Given the description of an element on the screen output the (x, y) to click on. 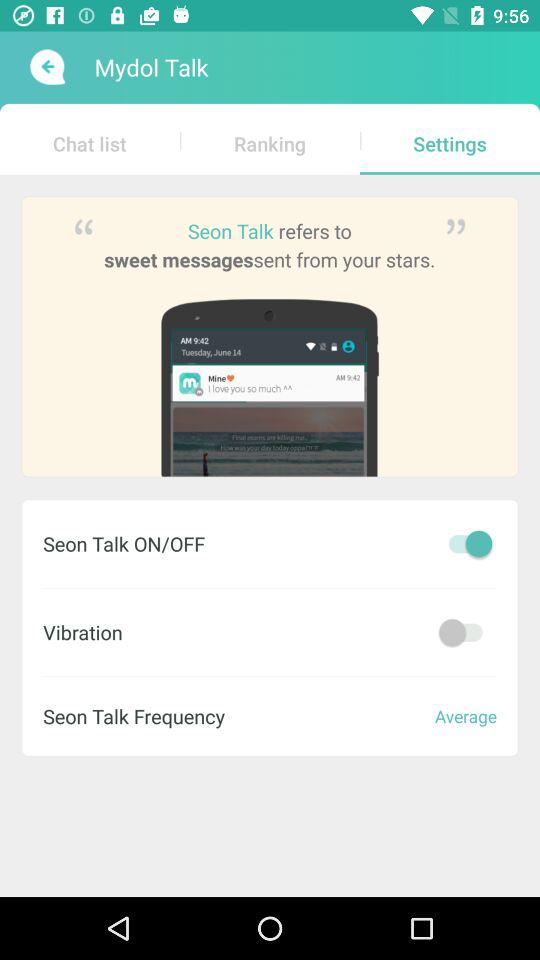
toggle seon talk option (465, 543)
